Given the description of an element on the screen output the (x, y) to click on. 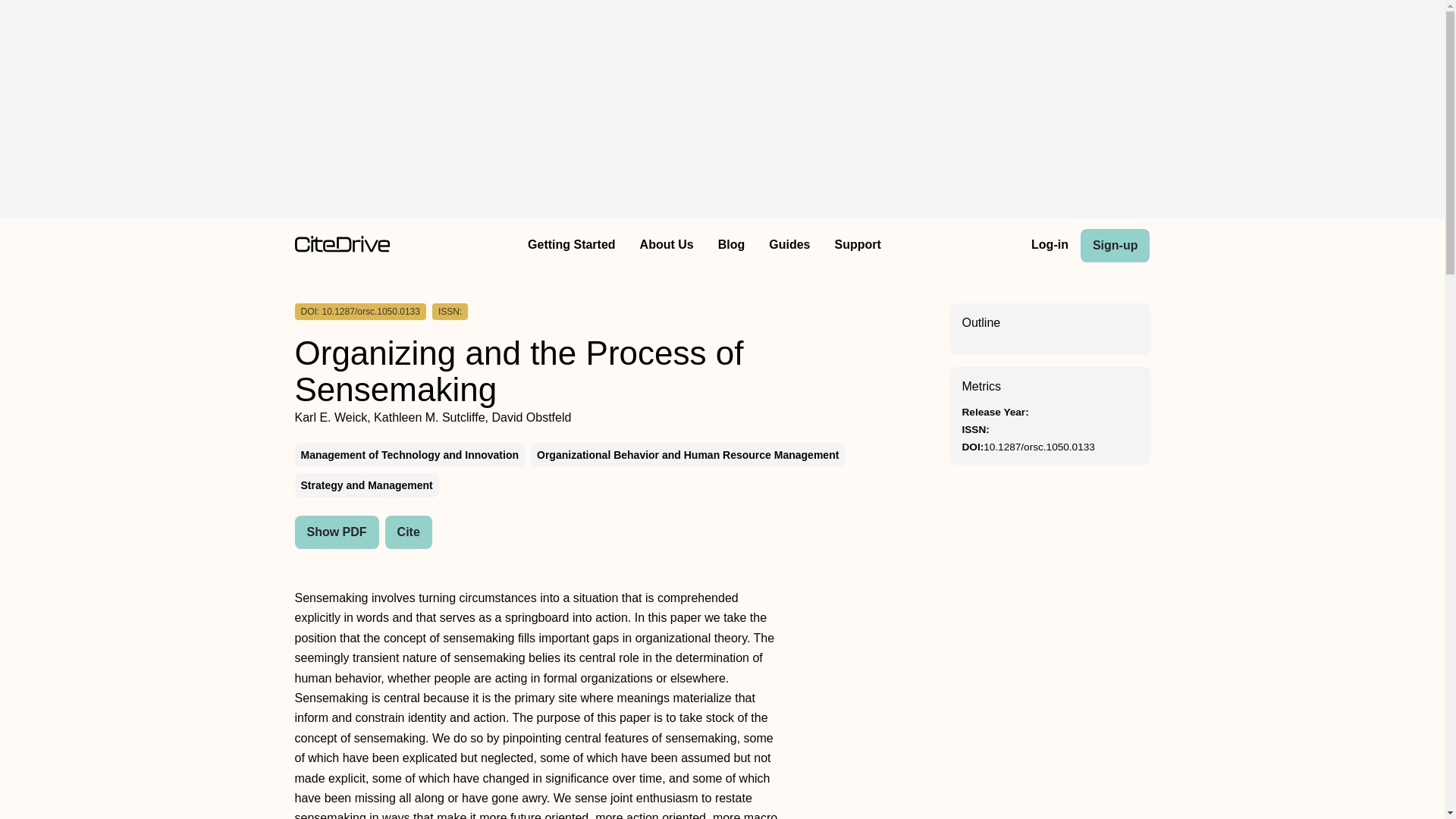
Log-in (1049, 245)
Support (857, 245)
About Us (666, 245)
Cite (408, 531)
Guides (789, 245)
Sign-up (1115, 245)
Show PDF (336, 531)
Getting Started (571, 245)
Blog (731, 245)
